Given the description of an element on the screen output the (x, y) to click on. 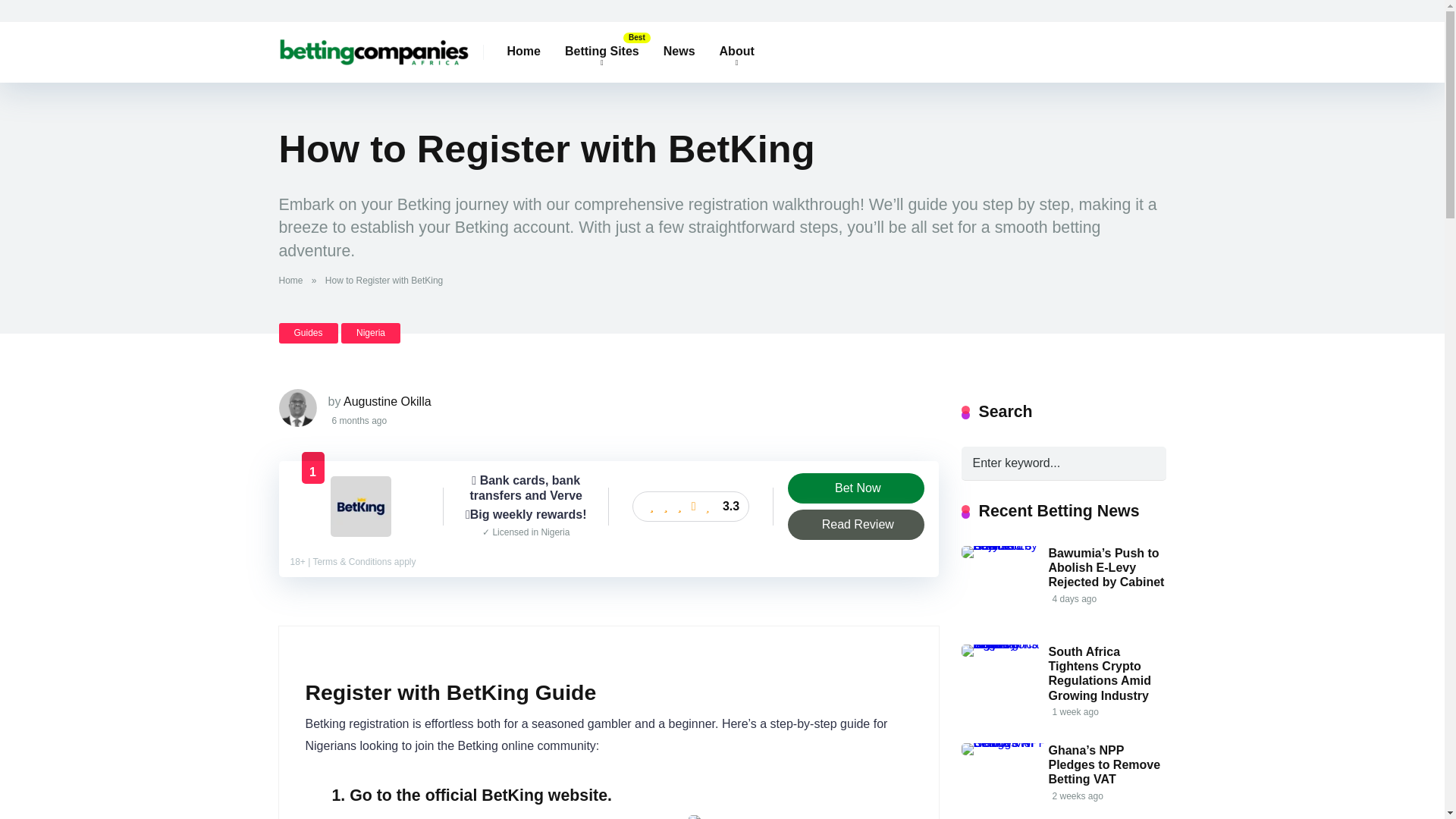
About (737, 52)
Read Review (855, 524)
Home (523, 52)
News (678, 52)
Betting Sites (601, 52)
Home (293, 280)
Guides (308, 332)
Betting Companies Africa (373, 46)
